Given the description of an element on the screen output the (x, y) to click on. 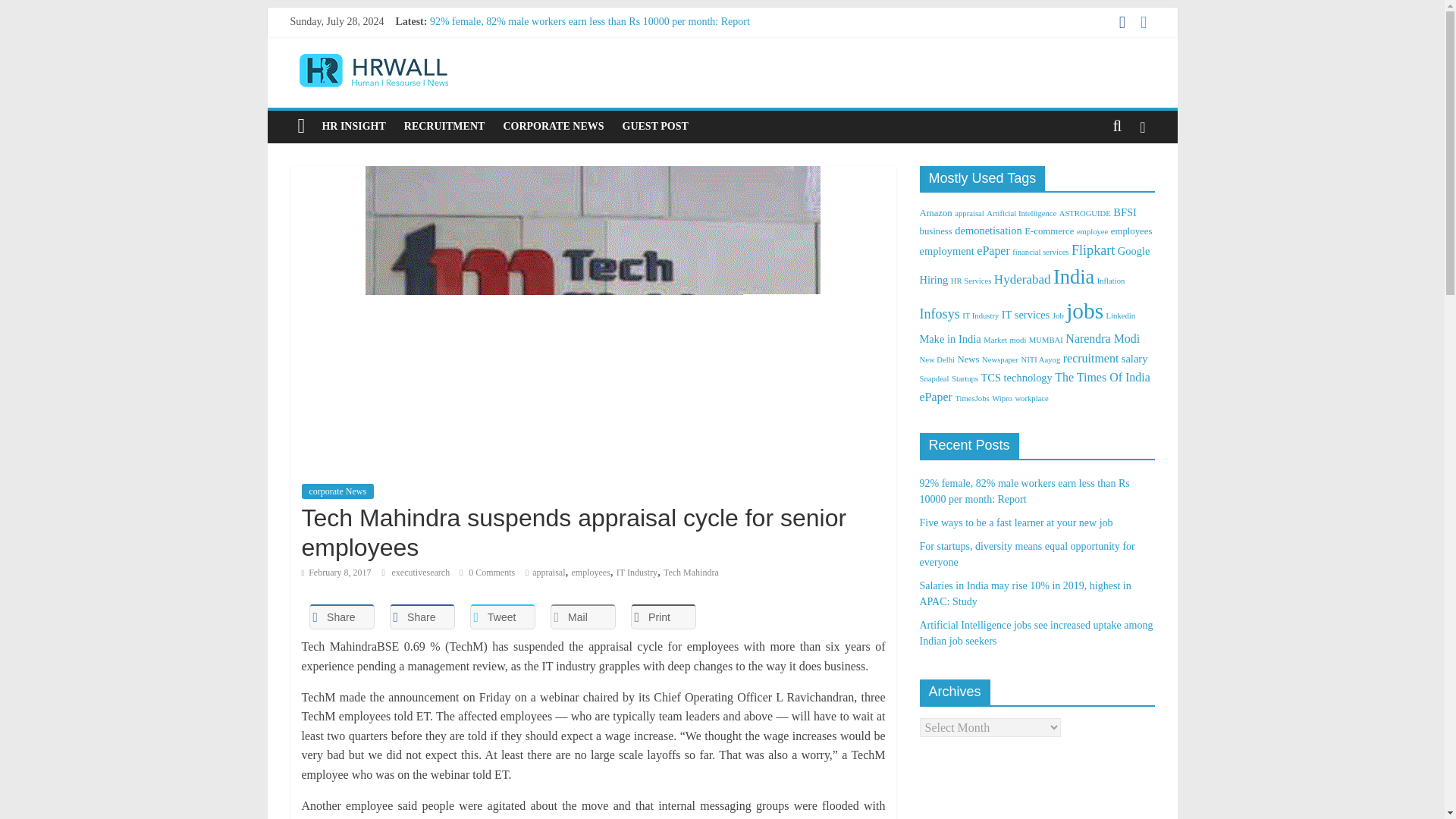
Tweet (502, 616)
GUEST POST (654, 126)
Five ways to be a fast learner at your new job (526, 38)
Share (422, 616)
For startups, diversity means equal opportunity for everyone (558, 55)
Share (341, 616)
4:28 pm (336, 572)
Mail (582, 616)
Share it on Email (582, 616)
executivesearch (421, 572)
IT Industry (636, 572)
Tech Mahindra (691, 572)
corporate News (337, 491)
